Given the description of an element on the screen output the (x, y) to click on. 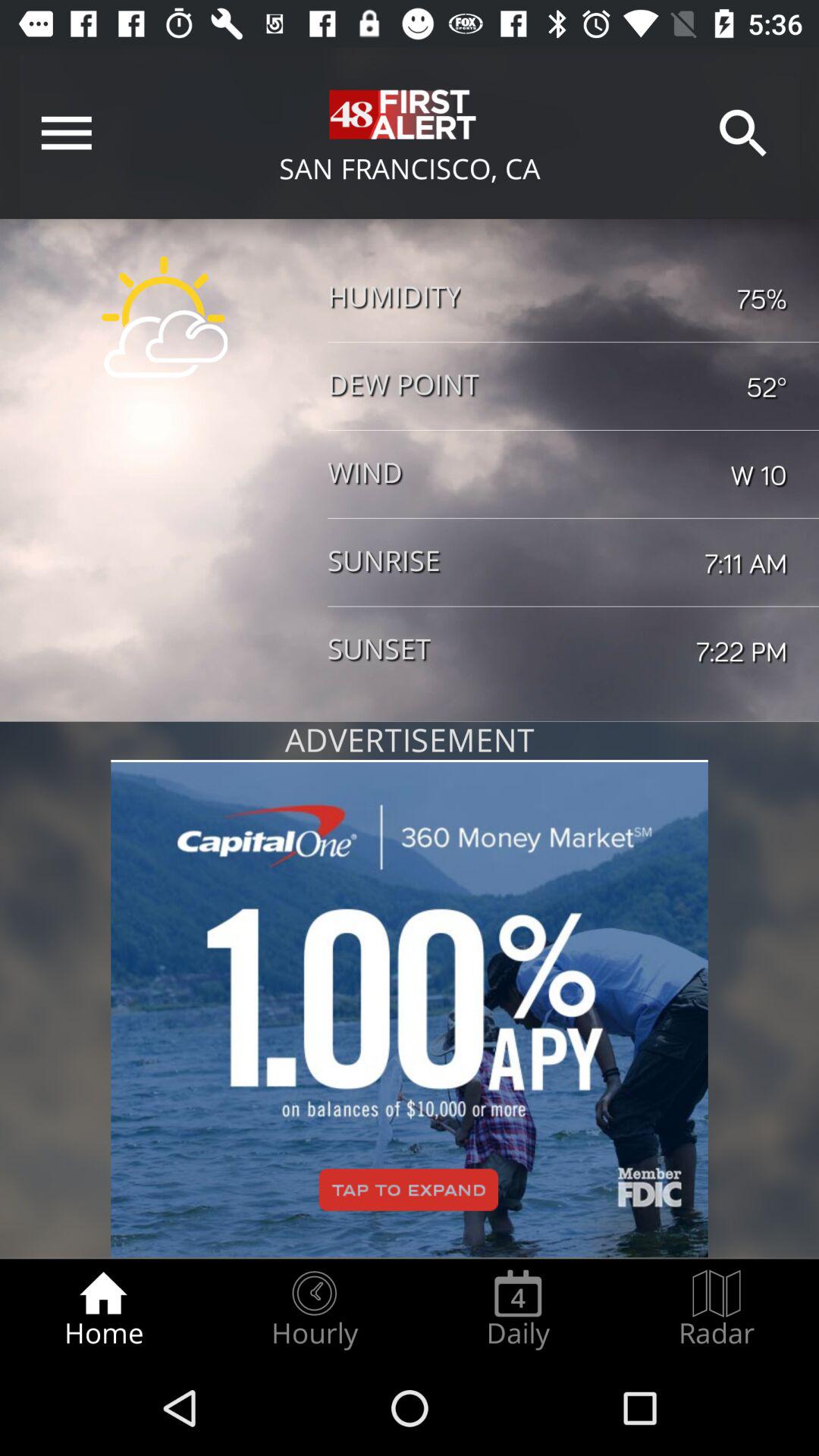
select icon next to radar item (518, 1309)
